Given the description of an element on the screen output the (x, y) to click on. 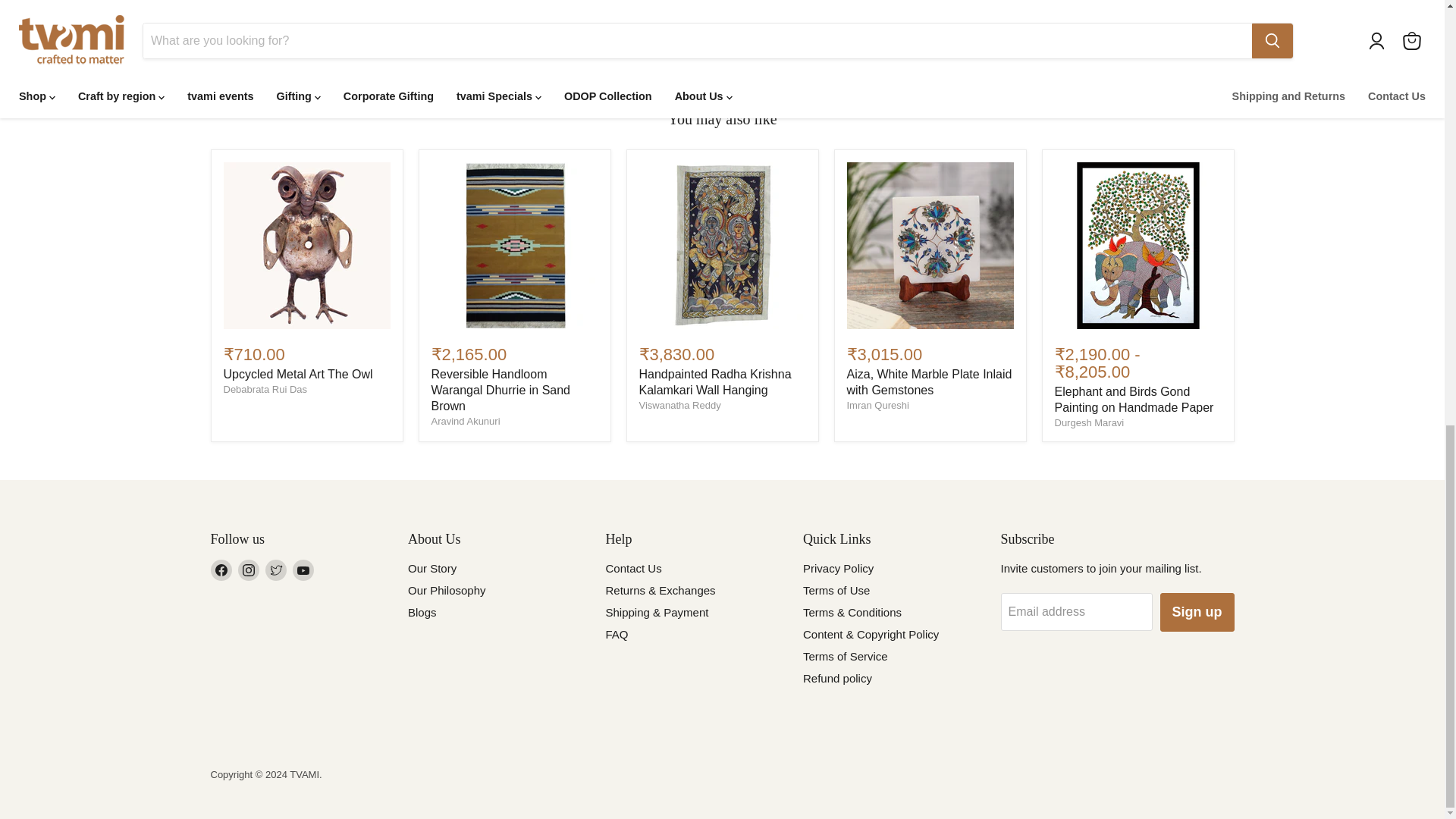
Imran Qureshi (876, 405)
Debabrata Rui Das (264, 389)
Instagram (248, 569)
Viswanatha Reddy (679, 405)
YouTube (303, 569)
Aravind Akunuri (464, 420)
Durgesh Maravi (1089, 422)
Twitter (275, 569)
Facebook (221, 569)
